Given the description of an element on the screen output the (x, y) to click on. 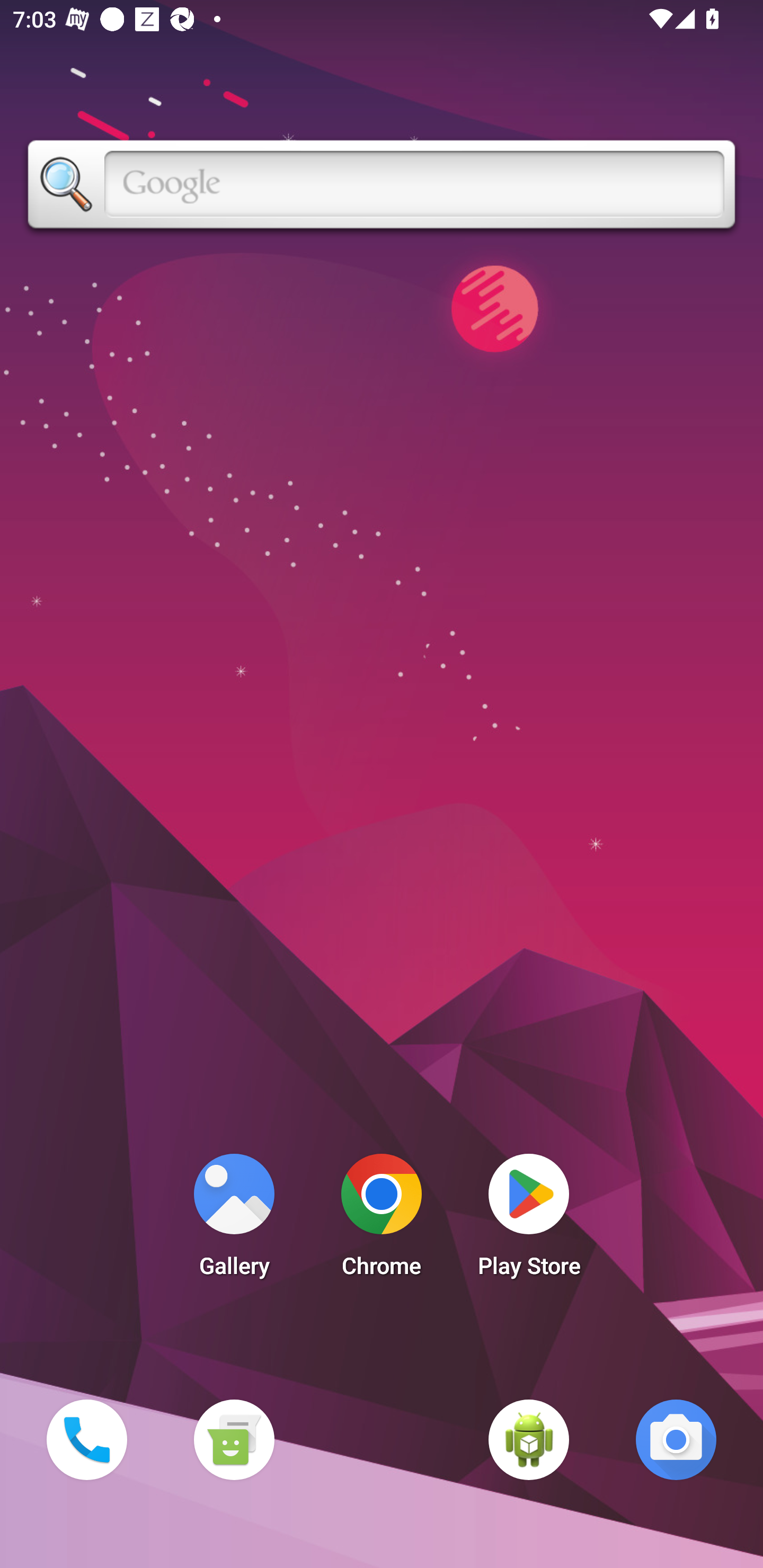
Gallery (233, 1220)
Chrome (381, 1220)
Play Store (528, 1220)
Phone (86, 1439)
Messaging (233, 1439)
WebView Browser Tester (528, 1439)
Camera (676, 1439)
